Given the description of an element on the screen output the (x, y) to click on. 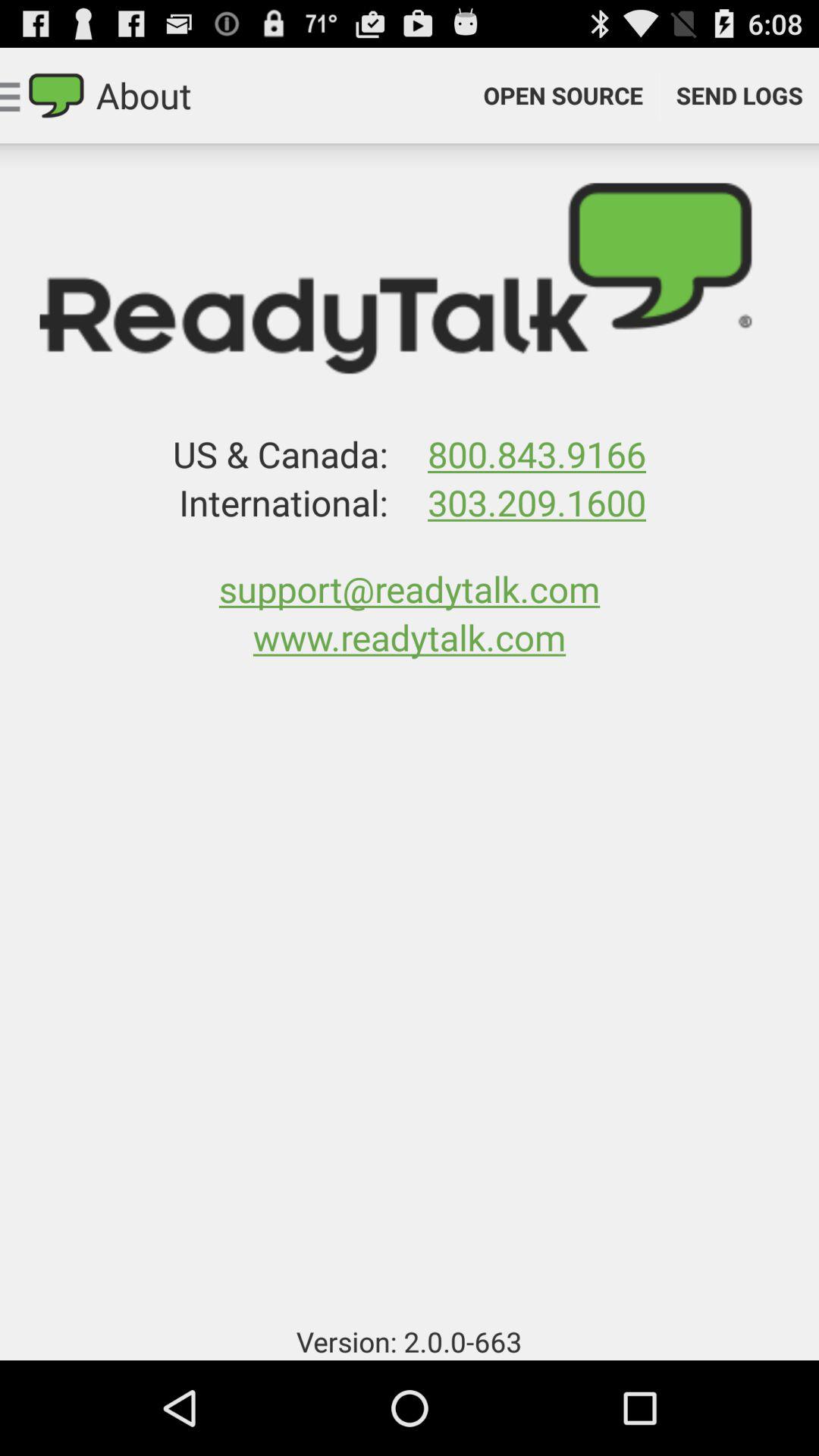
turn on 800.843.9166 app (536, 453)
